Given the description of an element on the screen output the (x, y) to click on. 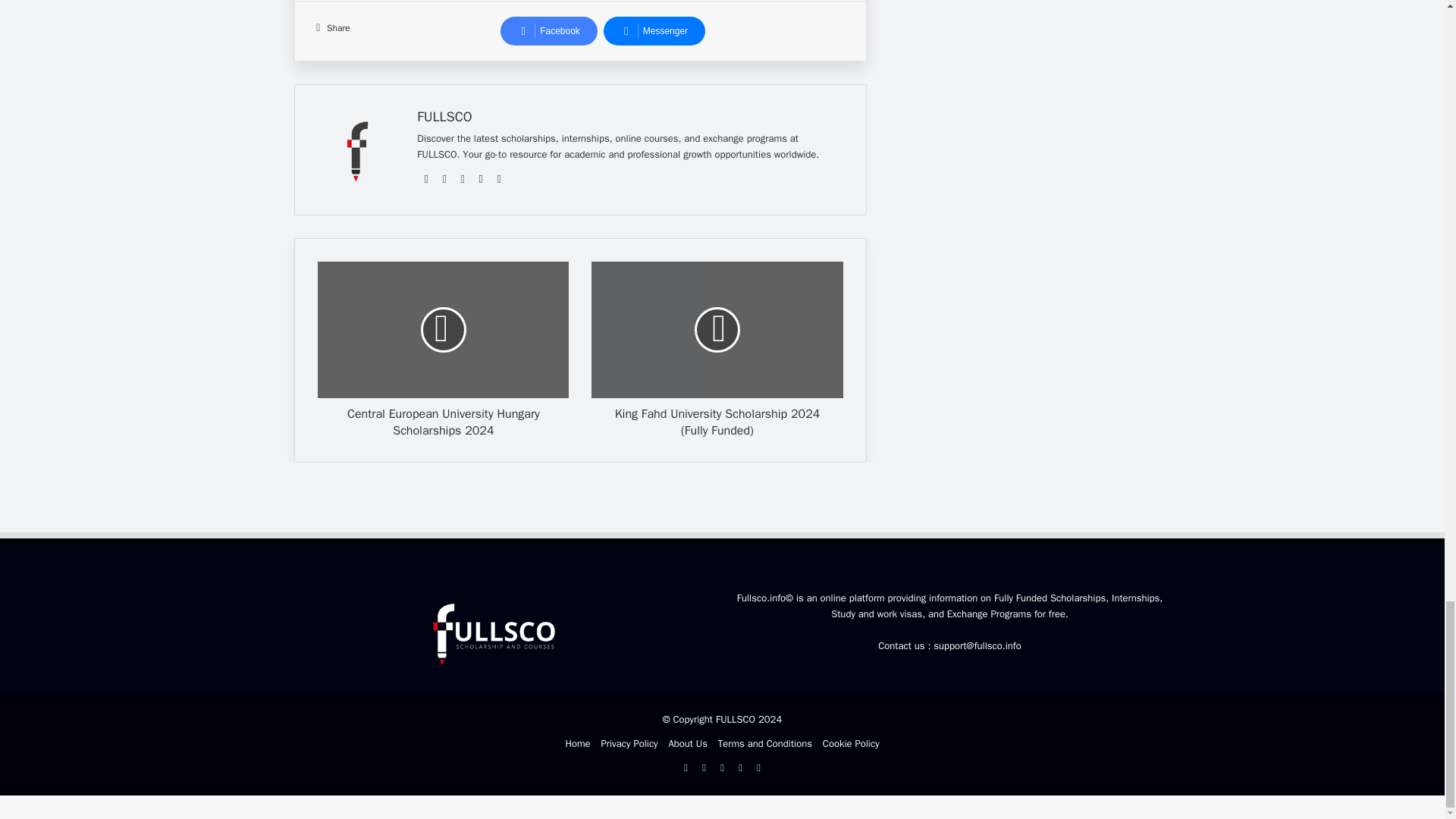
Facebook (548, 30)
Messenger (654, 30)
Facebook (548, 30)
